Given the description of an element on the screen output the (x, y) to click on. 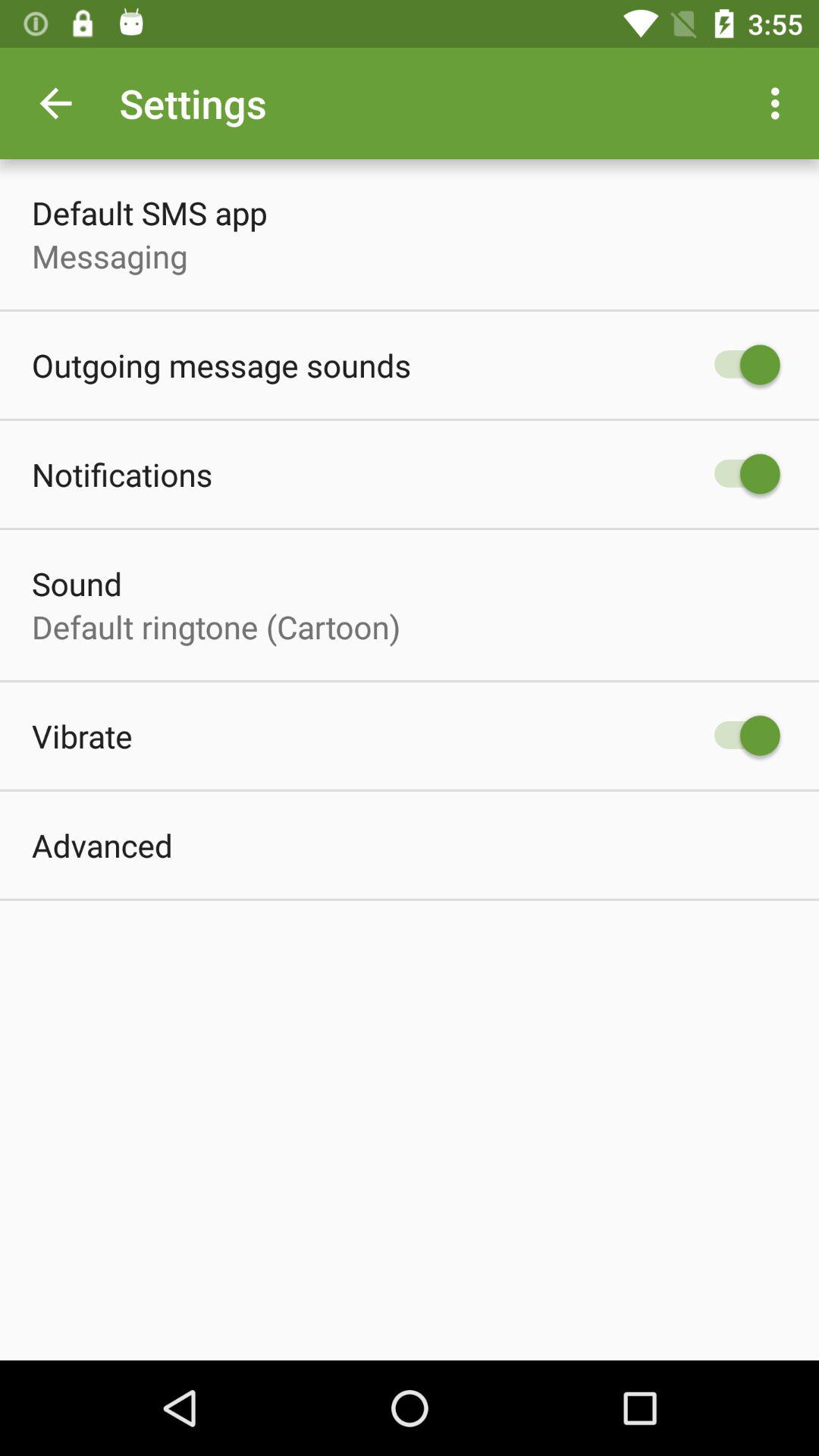
turn off the item to the left of settings app (55, 103)
